Given the description of an element on the screen output the (x, y) to click on. 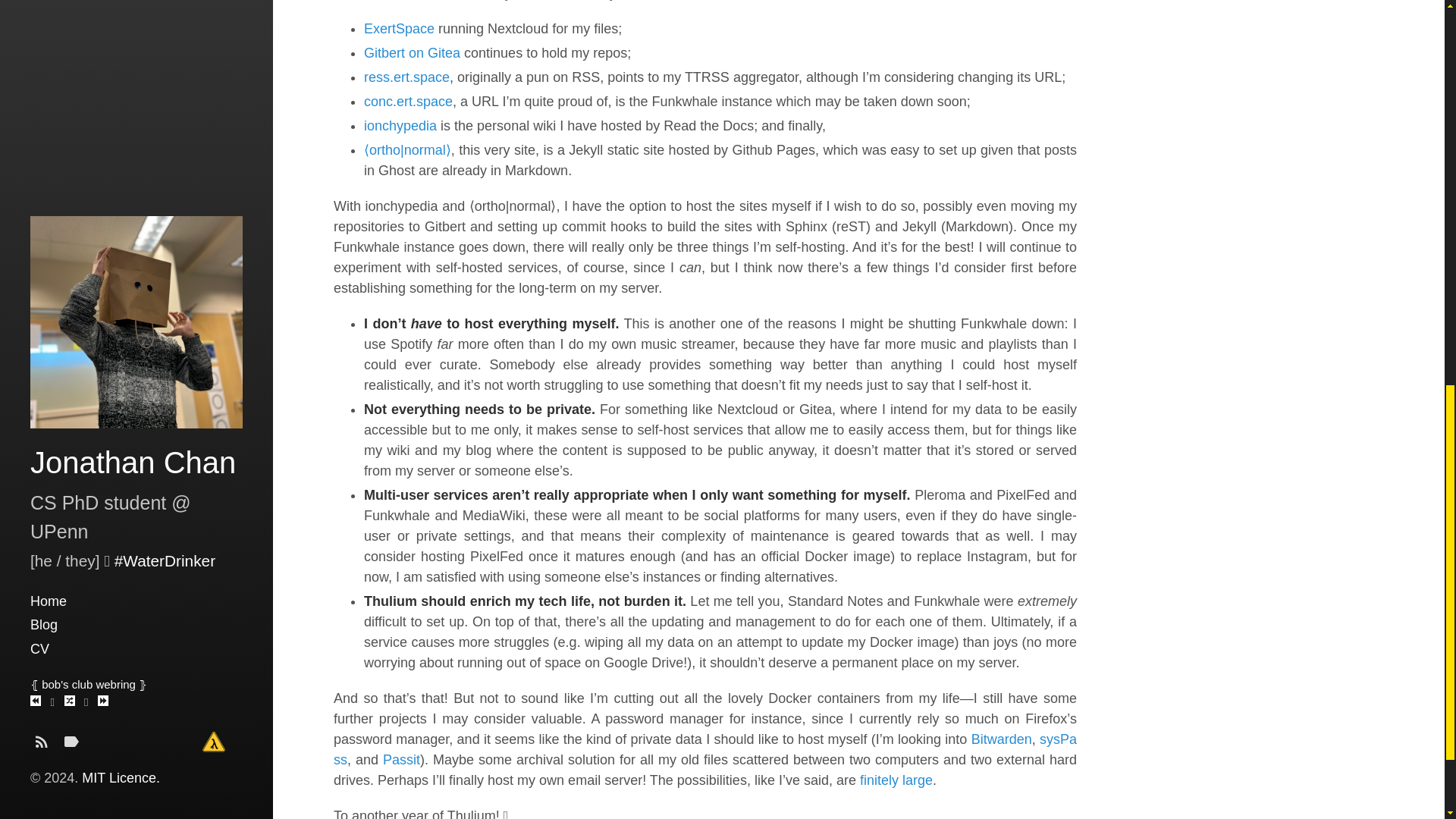
ExertSpace (398, 28)
ionchypedia (400, 125)
ress.ert.space (406, 77)
conc.ert.space (408, 101)
Gitbert on Gitea (412, 52)
